Given the description of an element on the screen output the (x, y) to click on. 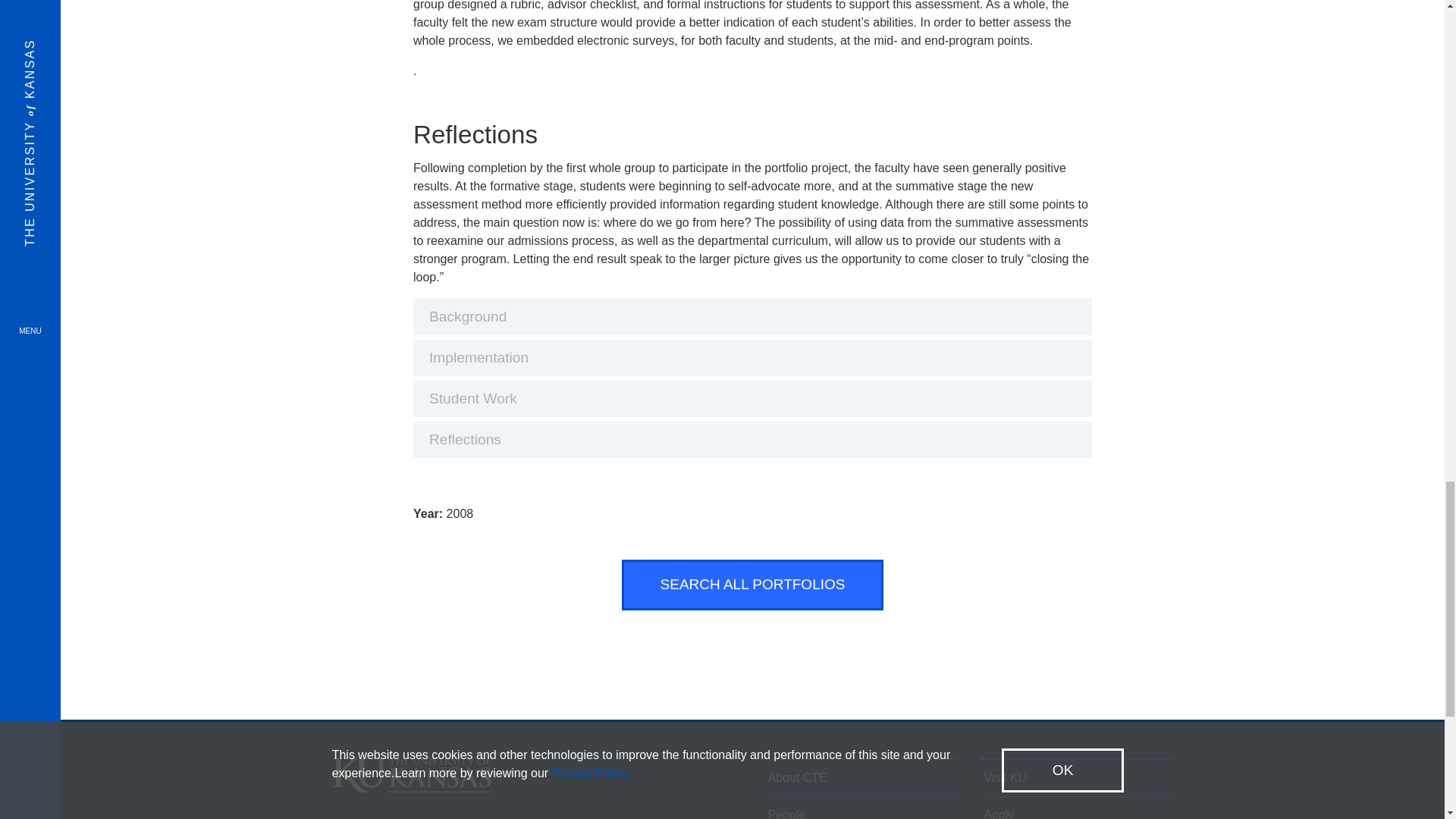
The University of Kansas (411, 785)
